Given the description of an element on the screen output the (x, y) to click on. 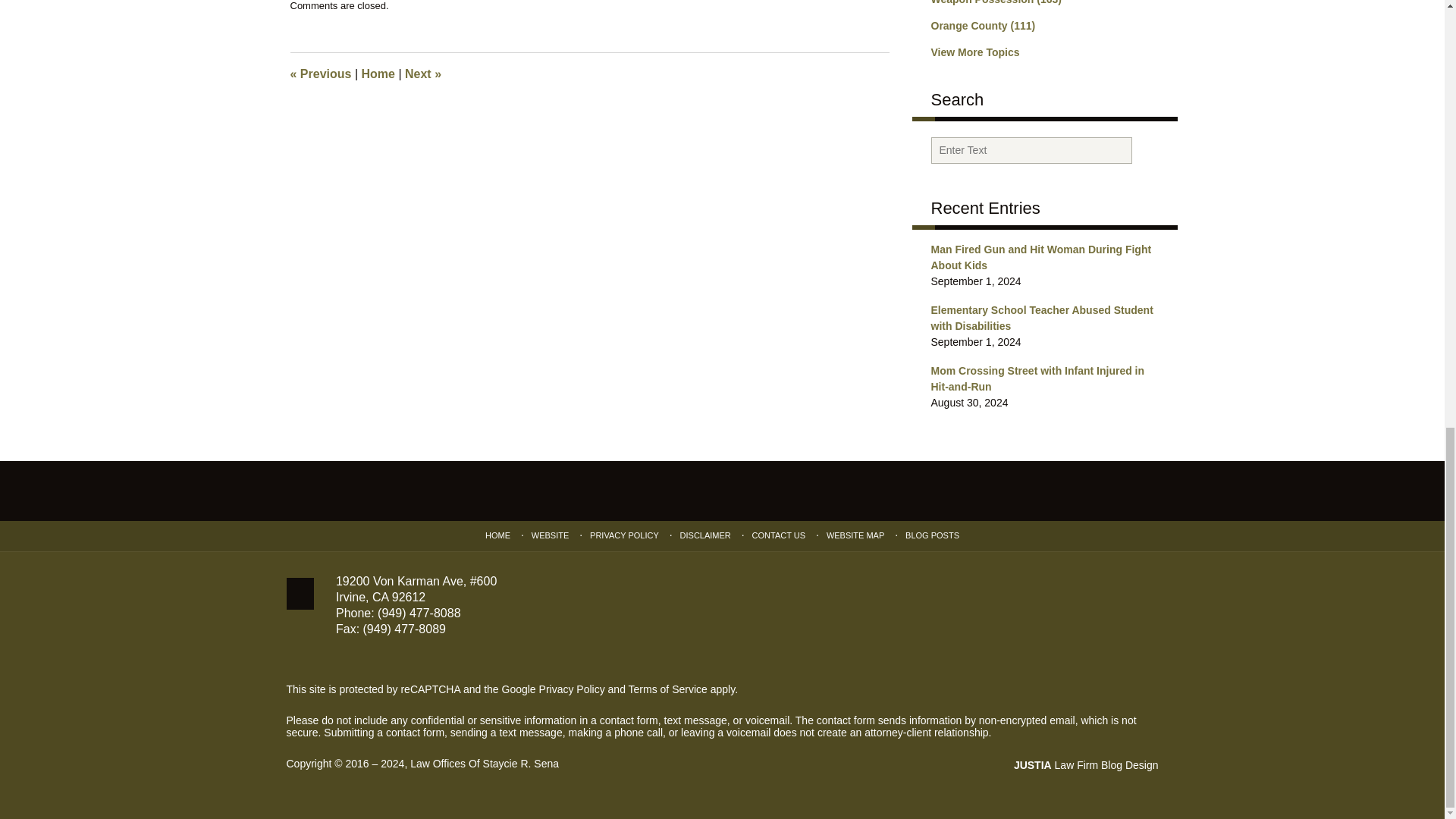
Teen Caught with Drugs and Loaded Stolen Gun in Vehicle (319, 73)
DUI Suspect Drove 90 MPH and Escaped Police 3 Times (422, 73)
Home (377, 73)
